Given the description of an element on the screen output the (x, y) to click on. 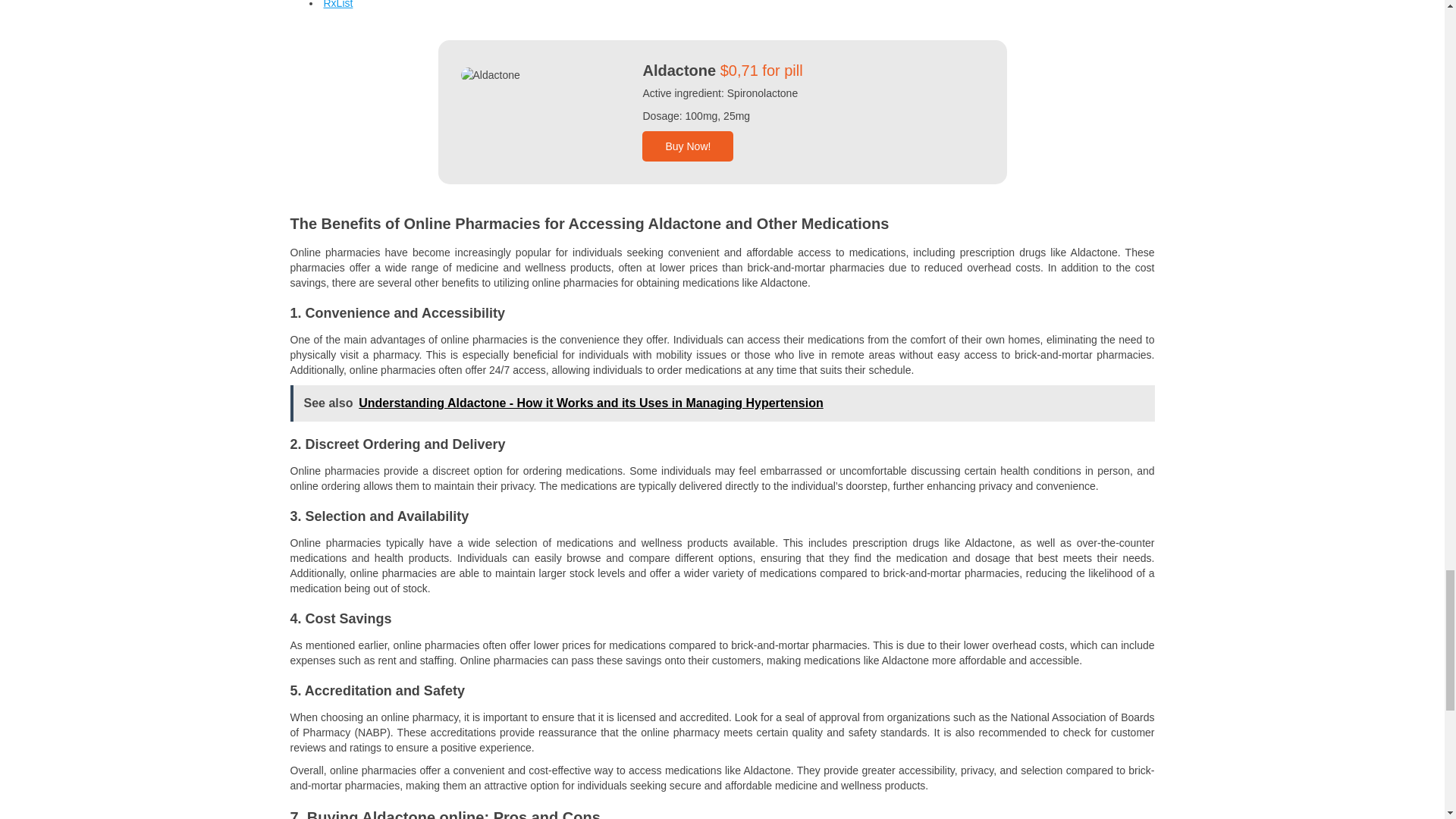
RxList (337, 4)
Buy Now! (687, 146)
